Given the description of an element on the screen output the (x, y) to click on. 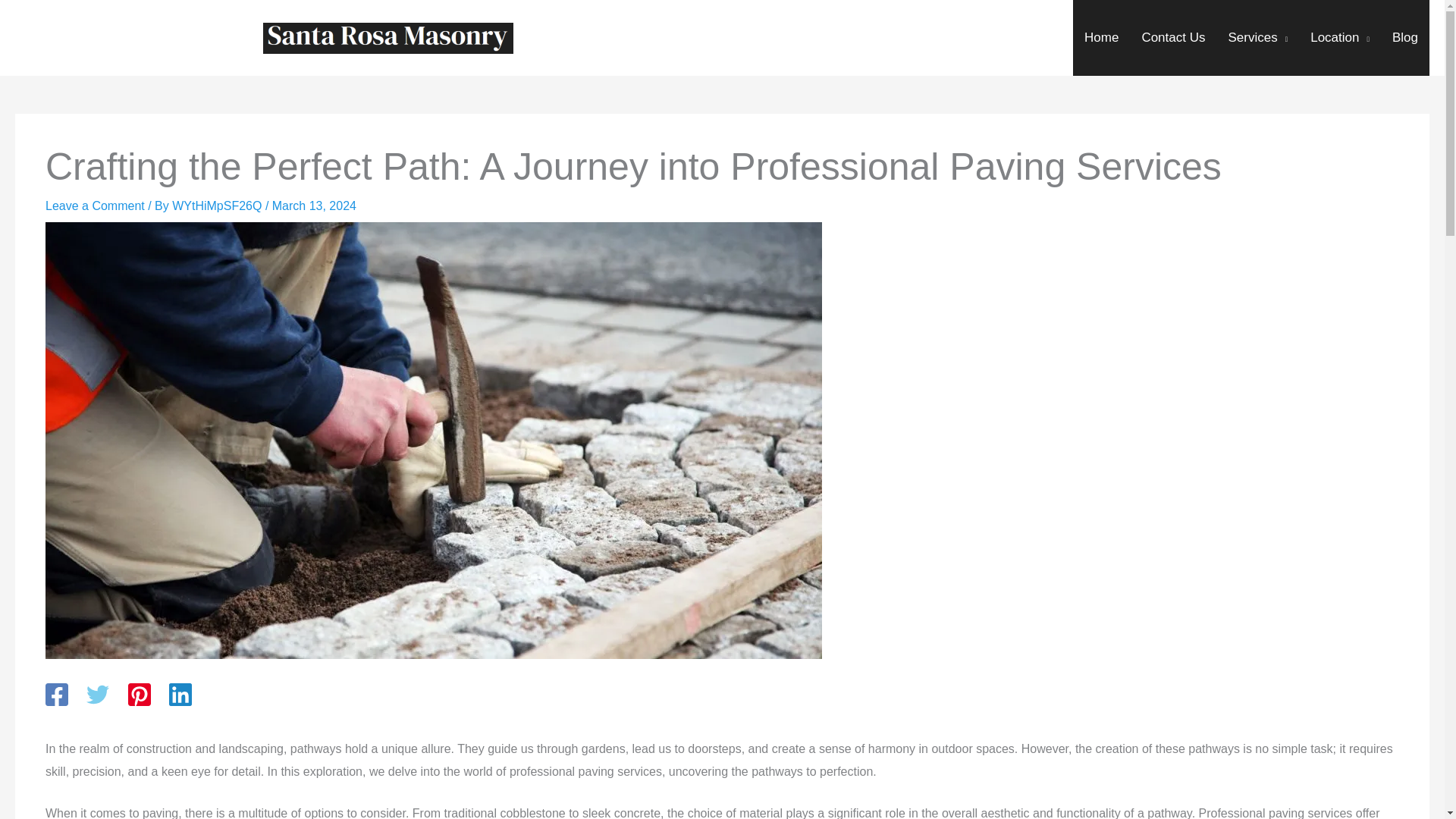
View all posts by WYtHiMpSF26Q (217, 205)
Home (1101, 37)
Location (1339, 37)
Services (1256, 37)
Contact Us (1172, 37)
Blog (1404, 37)
